Given the description of an element on the screen output the (x, y) to click on. 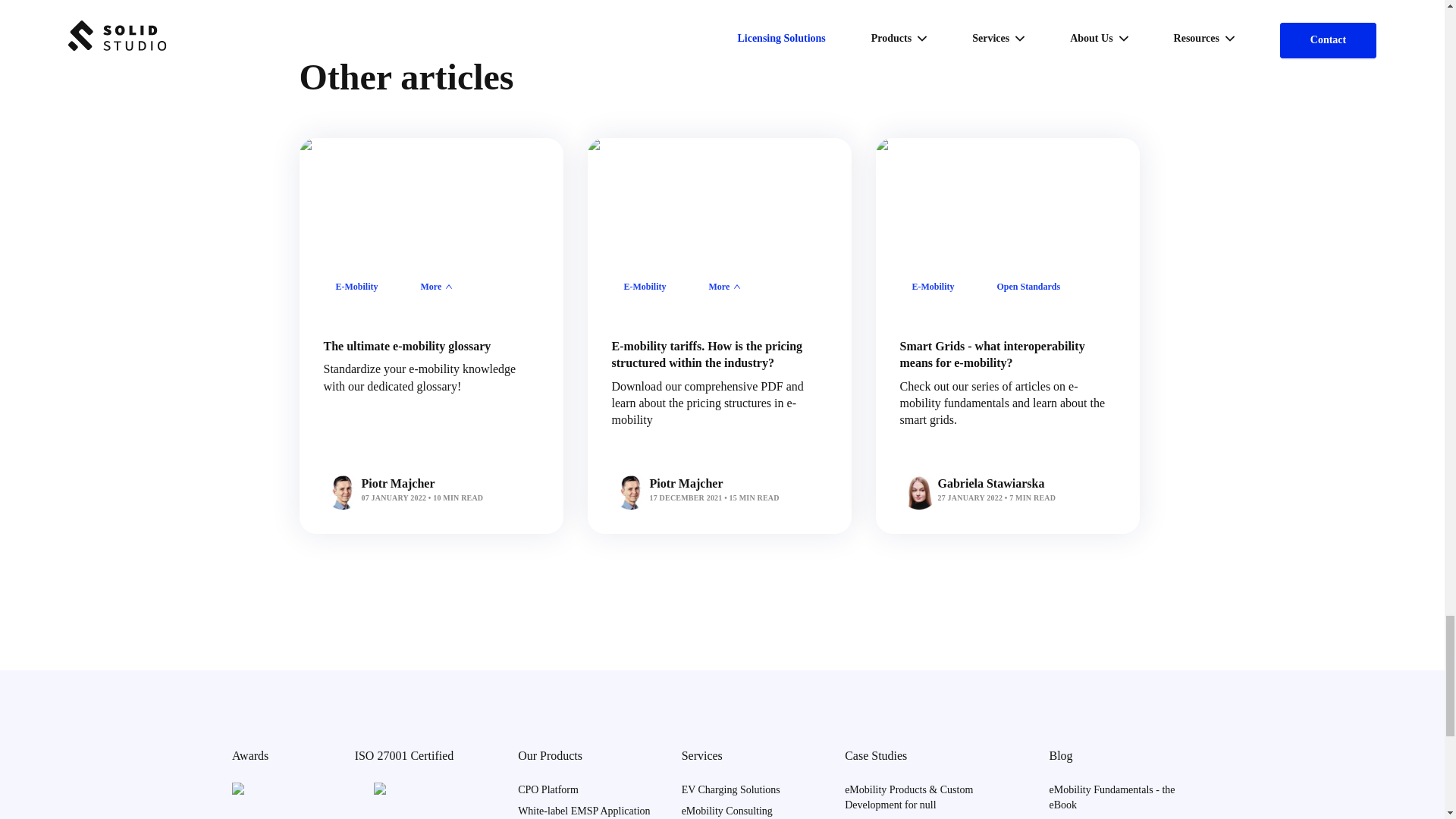
EV Charging Solutions (730, 789)
eMobility Fundamentals - the eBook (1111, 796)
eMobility Consulting (727, 810)
White-label EMSP Application (583, 810)
CPO Platform (548, 789)
